Given the description of an element on the screen output the (x, y) to click on. 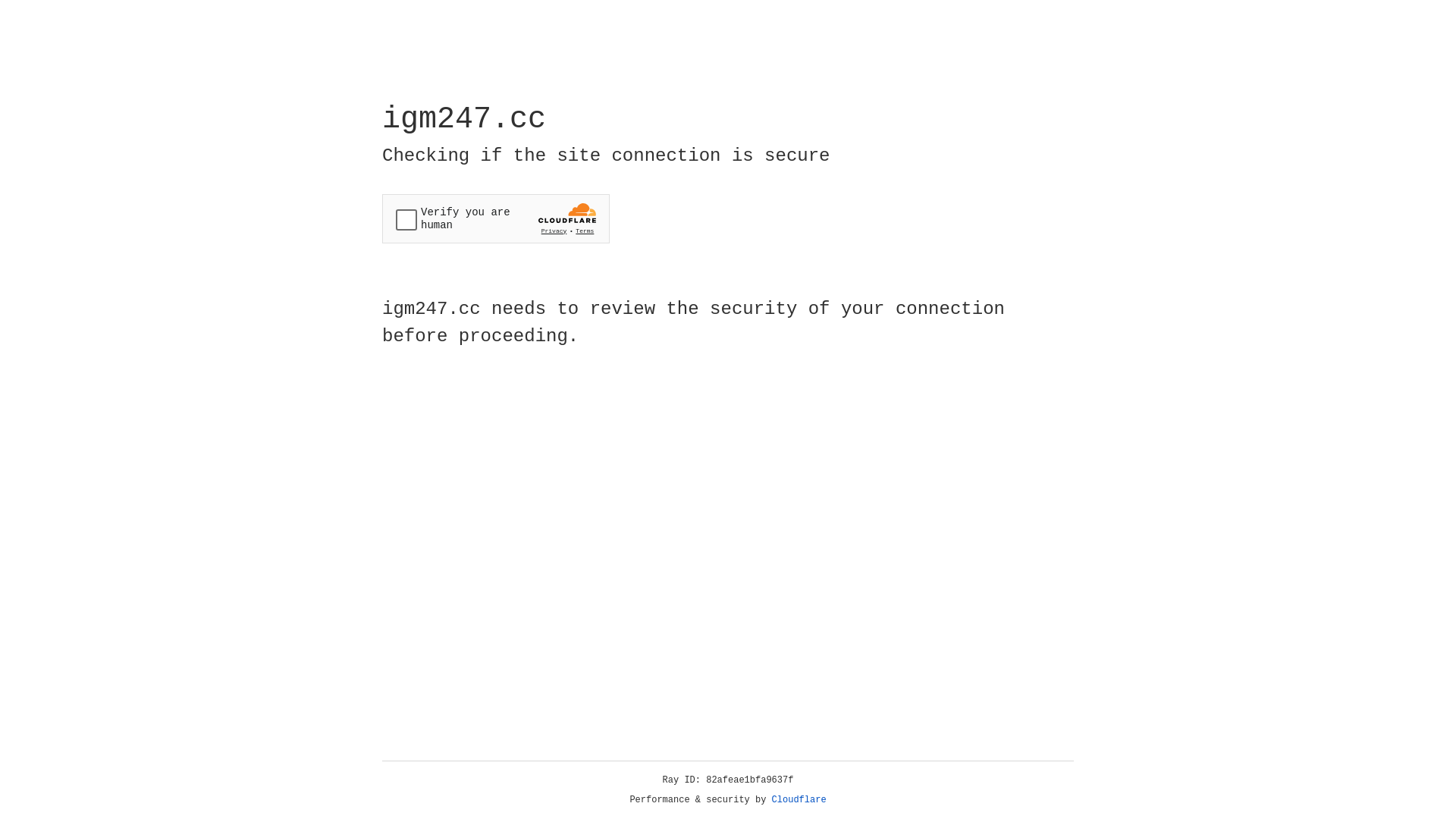
Widget containing a Cloudflare security challenge Element type: hover (495, 218)
Cloudflare Element type: text (798, 799)
